Given the description of an element on the screen output the (x, y) to click on. 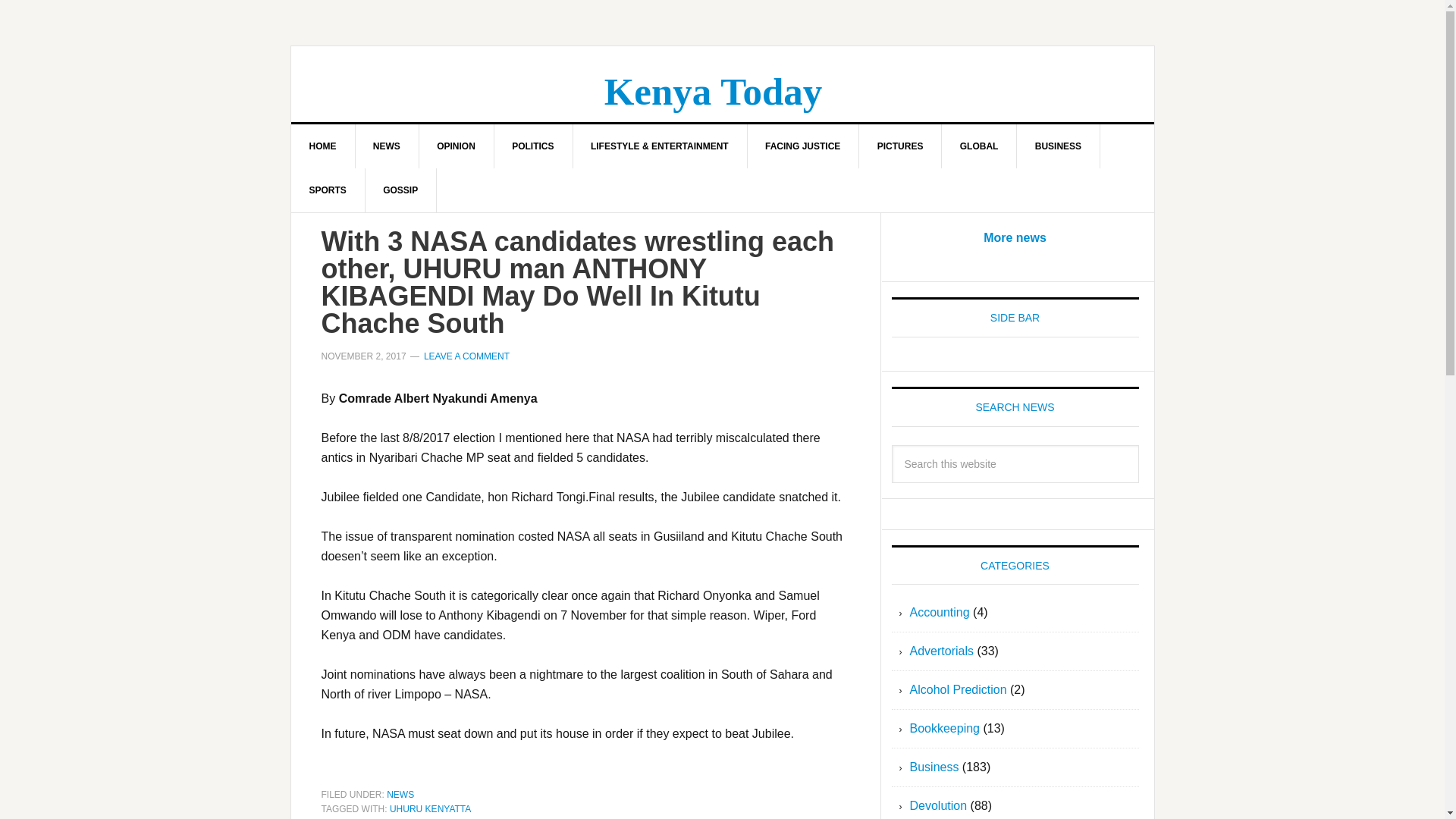
Business (934, 766)
UHURU KENYATTA (430, 808)
GLOBAL (979, 146)
GOSSIP (400, 190)
More news (1015, 237)
Advertorials (942, 650)
FACING JUSTICE (802, 146)
NEWS (387, 146)
LEAVE A COMMENT (466, 356)
PICTURES (900, 146)
Kenya Today (713, 91)
Devolution (939, 805)
OPINION (457, 146)
